Given the description of an element on the screen output the (x, y) to click on. 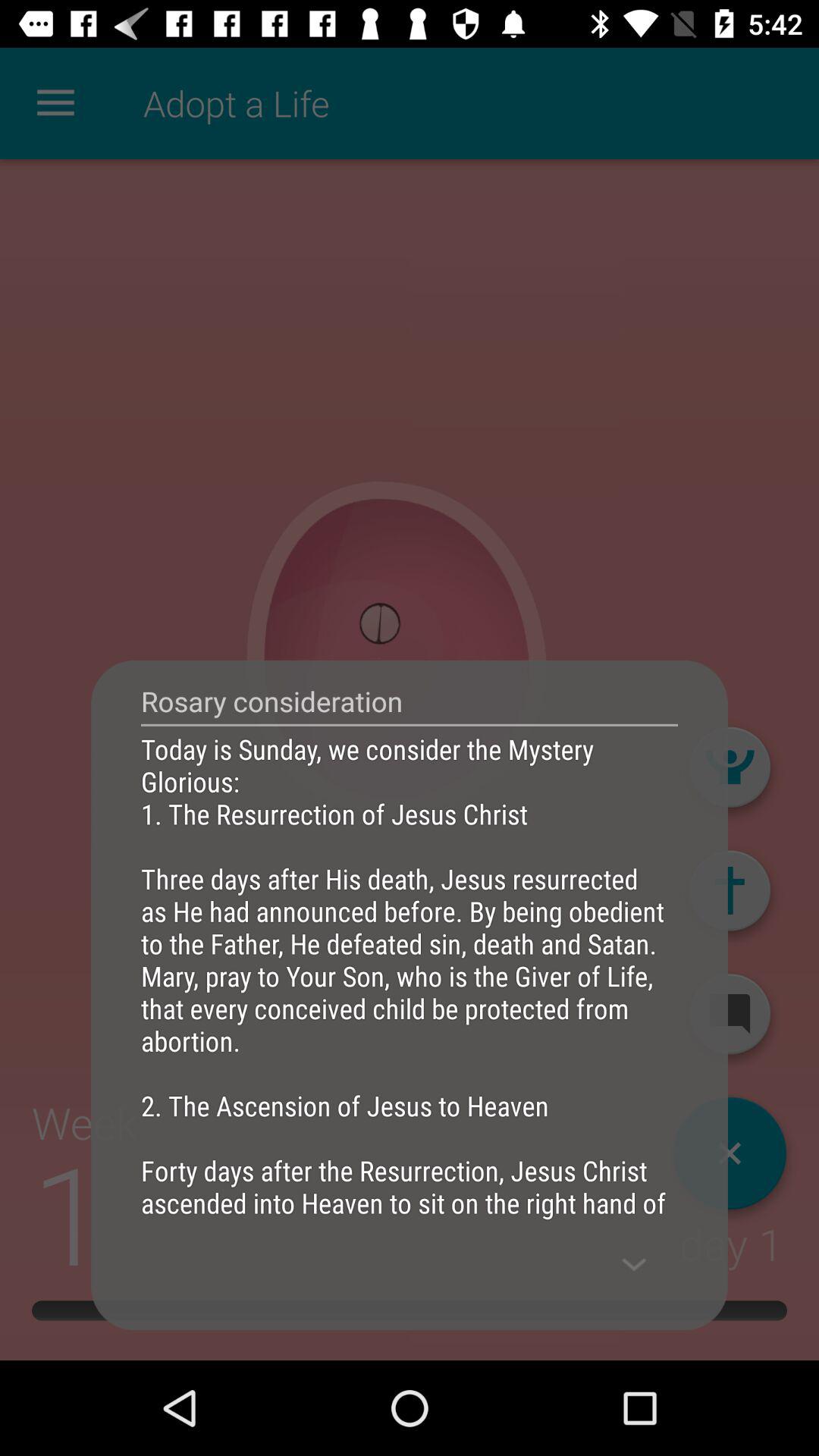
turn on today is sunday at the bottom (409, 975)
